Given the description of an element on the screen output the (x, y) to click on. 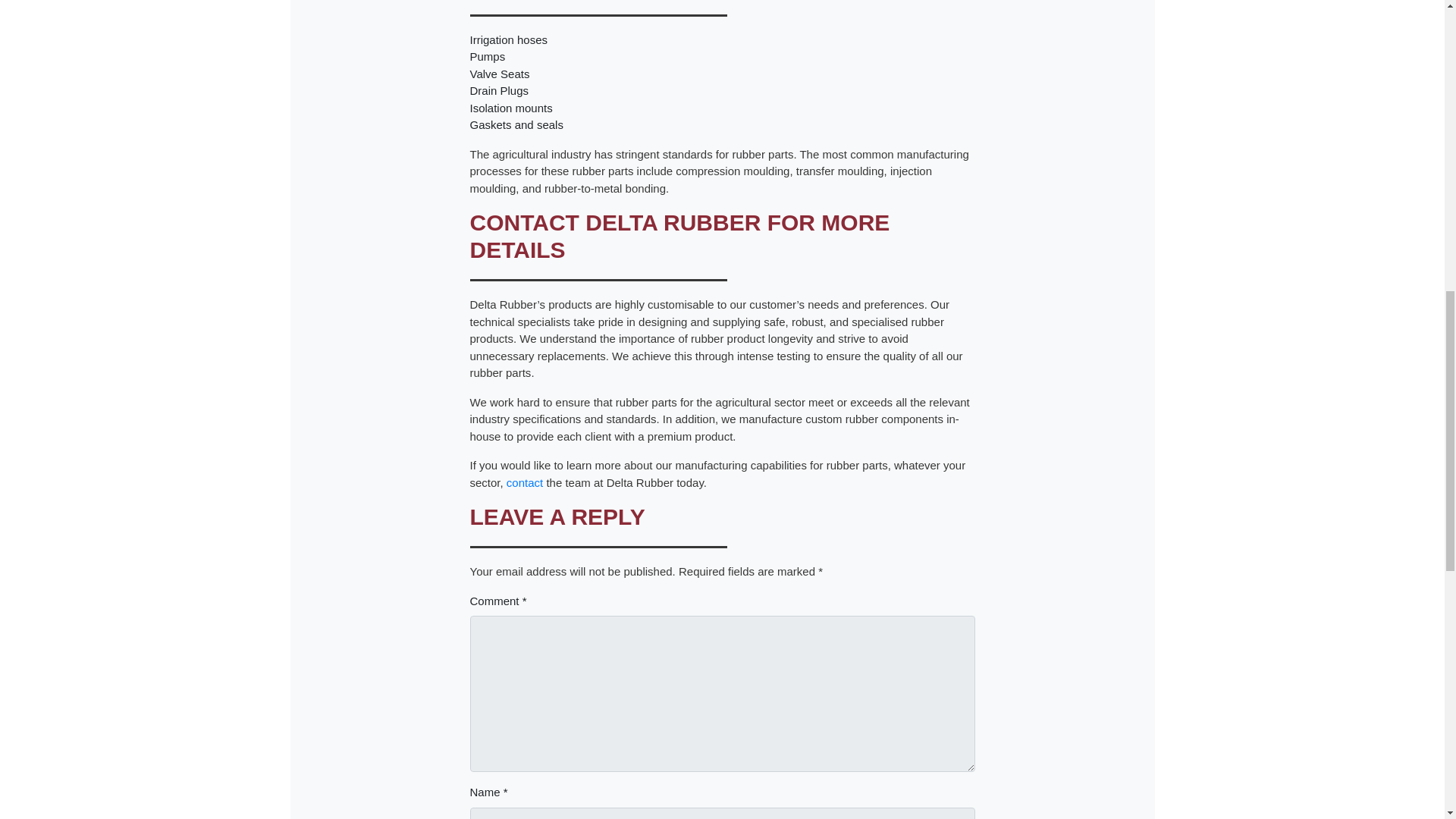
contact (524, 481)
